Given the description of an element on the screen output the (x, y) to click on. 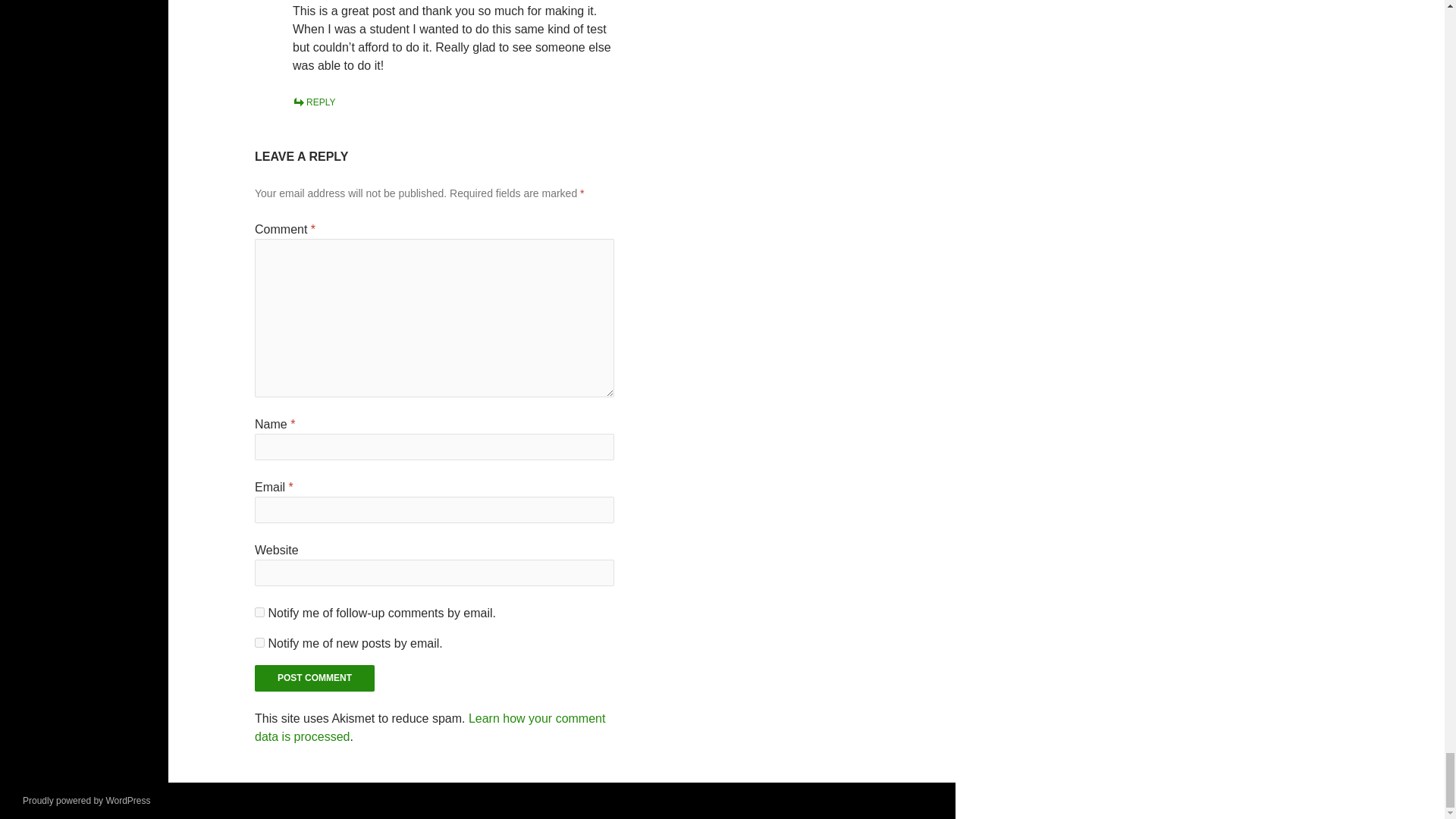
Post Comment (314, 678)
subscribe (259, 612)
subscribe (259, 642)
